Given the description of an element on the screen output the (x, y) to click on. 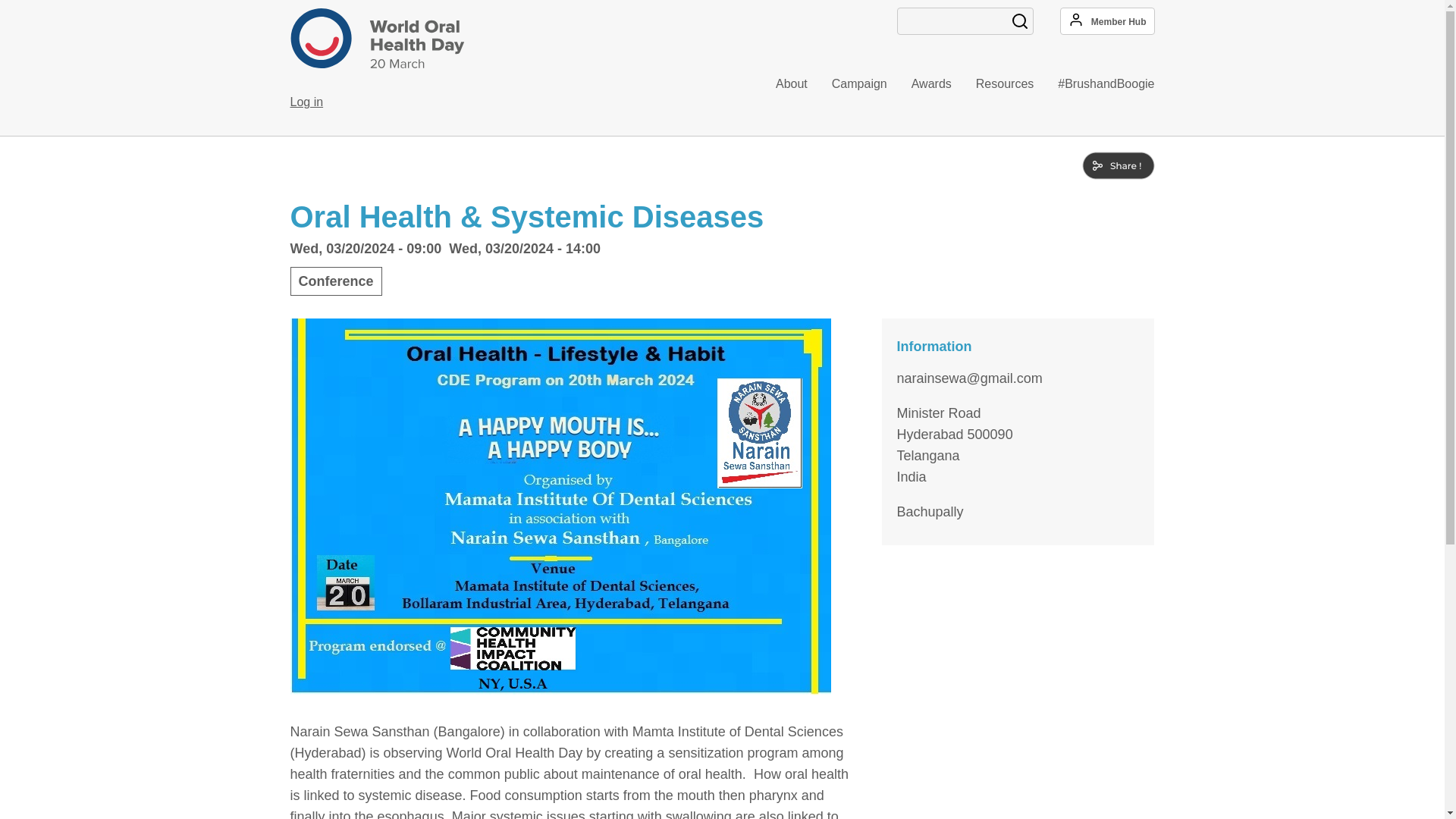
Campaign (847, 83)
Resources (992, 83)
Search (1019, 21)
Search (1019, 21)
Awards (919, 83)
Enter the terms you wish to search for. (964, 21)
About (779, 83)
Member Hub (1106, 21)
Member Hub (1106, 21)
Log in (306, 101)
